Given the description of an element on the screen output the (x, y) to click on. 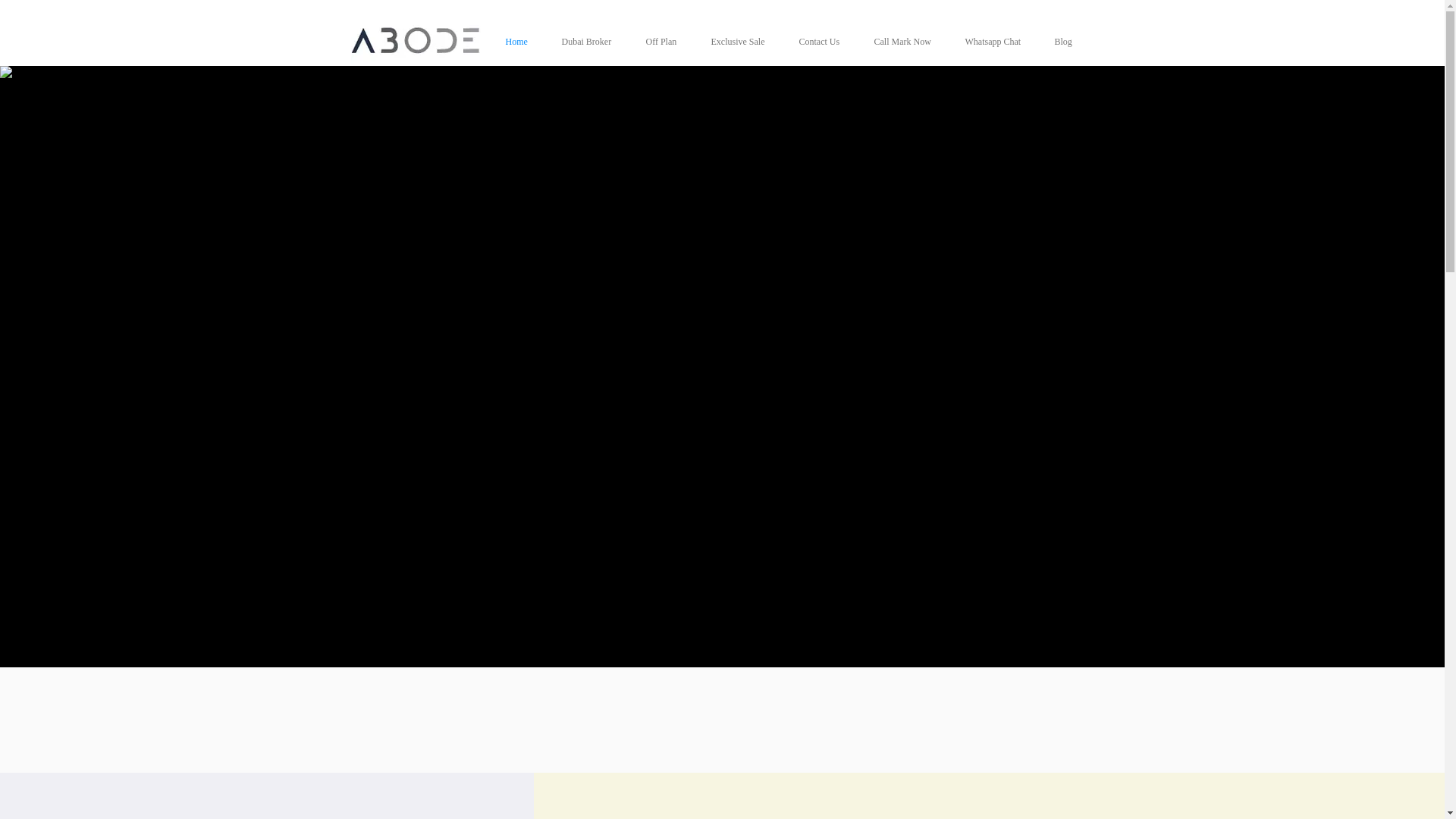
Off Plan (665, 41)
Home (522, 41)
ABODE.jpg (415, 42)
Dubai Broker (592, 41)
